Given the description of an element on the screen output the (x, y) to click on. 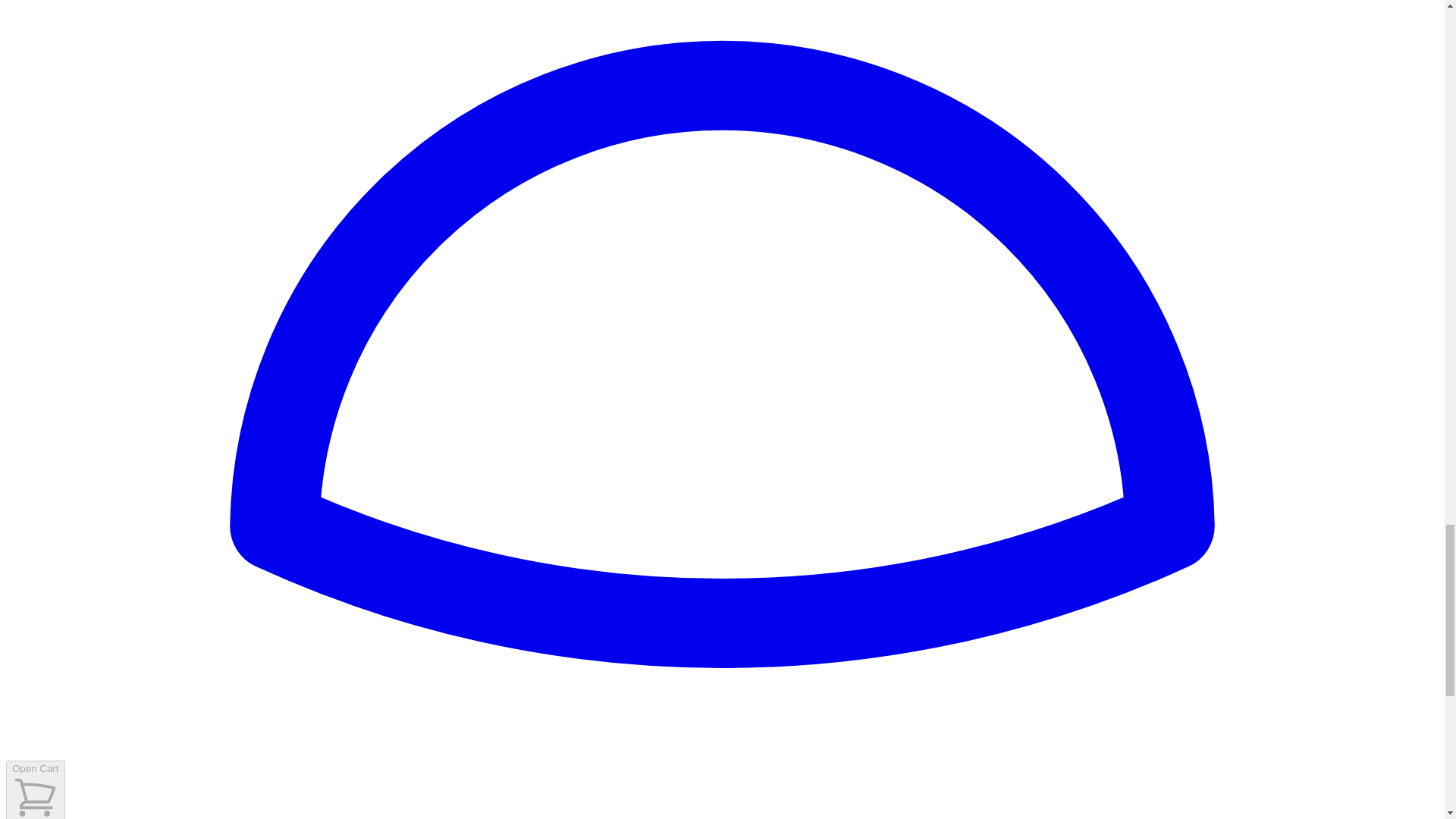
Open Cart (35, 789)
